Given the description of an element on the screen output the (x, y) to click on. 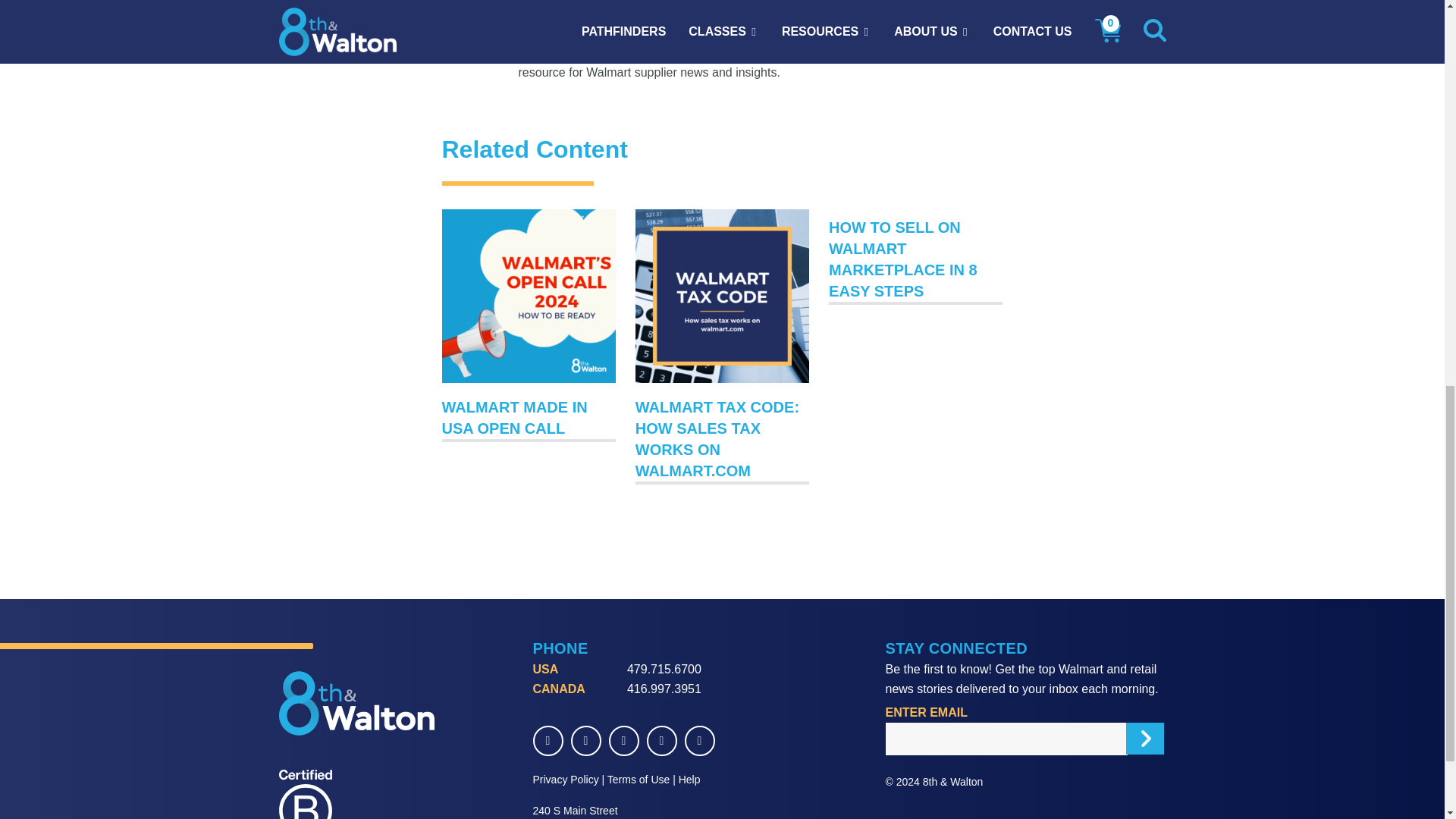
SUBMIT (1144, 738)
